Given the description of an element on the screen output the (x, y) to click on. 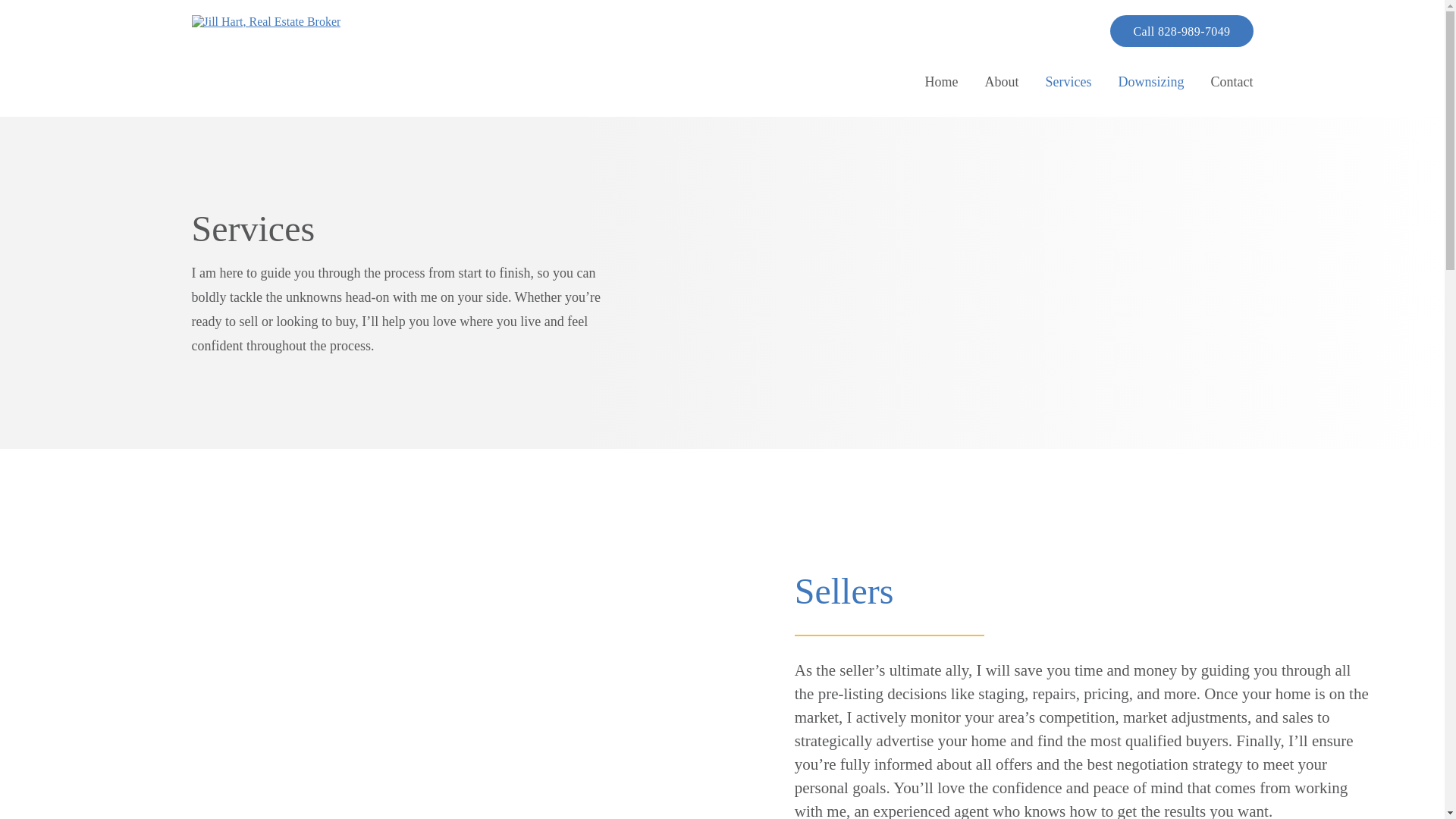
Services (1068, 81)
Home (941, 81)
Downsizing (1150, 81)
Contact (1230, 81)
About (1002, 81)
